Given the description of an element on the screen output the (x, y) to click on. 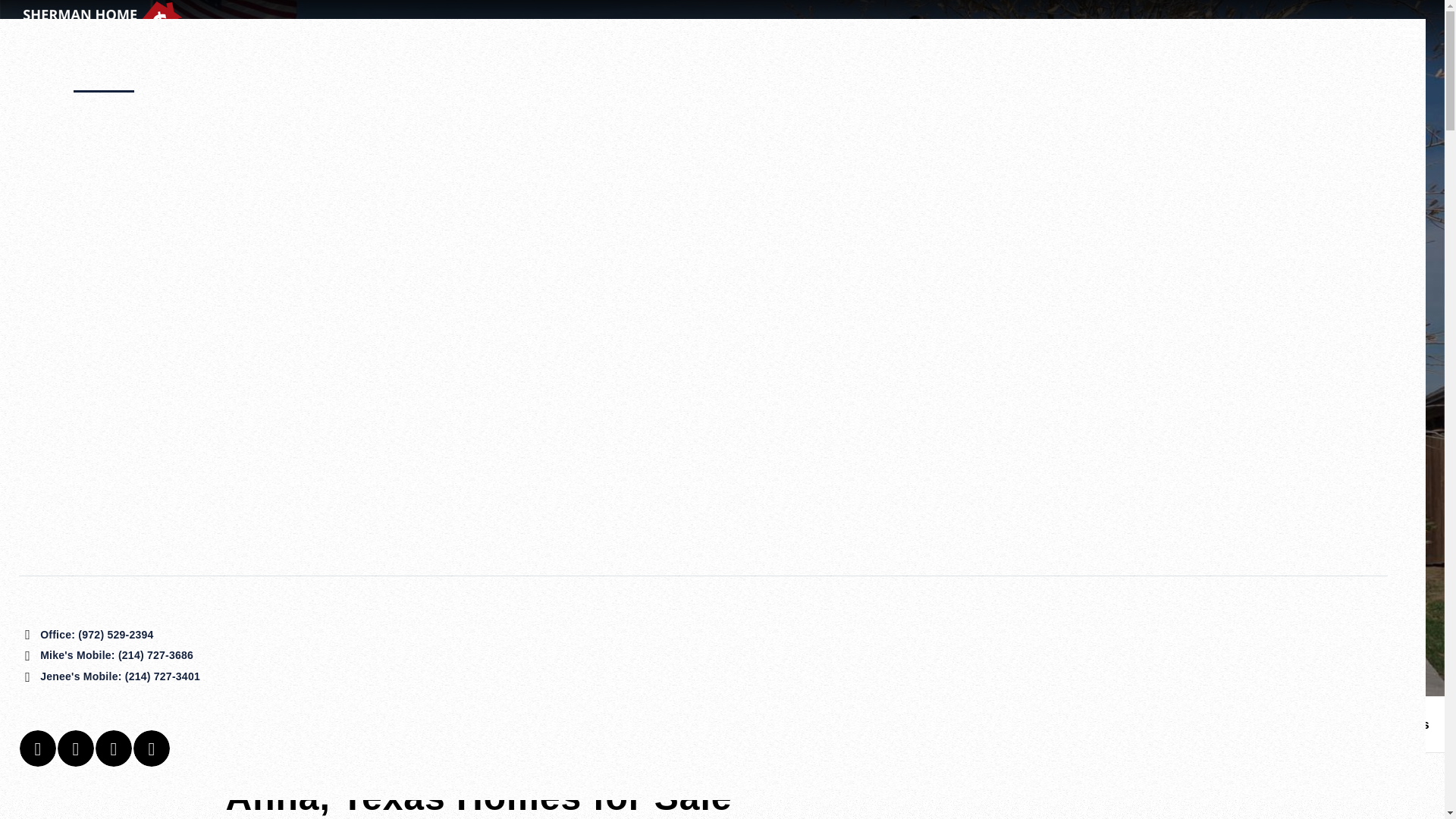
SHERMAN AREA NEW HOMES (952, 30)
ABOUT (1249, 30)
SELLING (1173, 30)
FEATURED AREAS (774, 30)
Anna (86, 724)
PROPERTY SEARCH (634, 30)
Anna (86, 724)
BUYING (1094, 30)
